Given the description of an element on the screen output the (x, y) to click on. 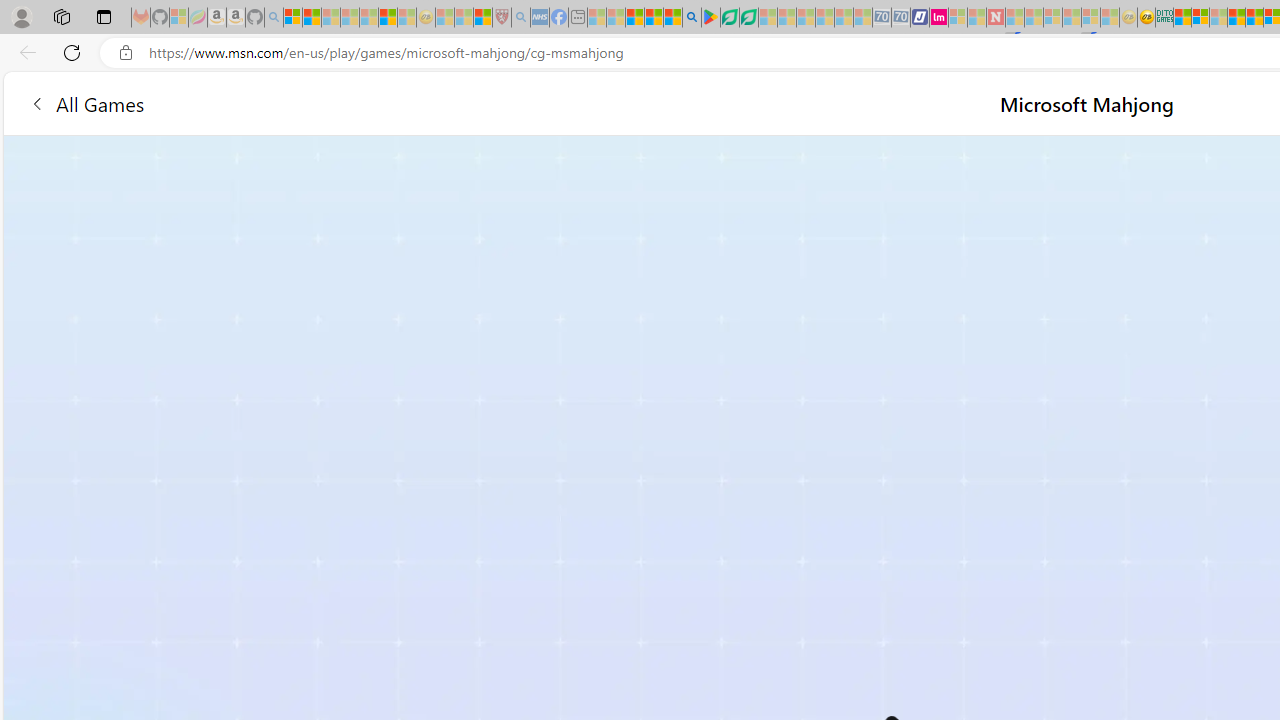
Bluey: Let's Play! - Apps on Google Play (710, 17)
